Given the description of an element on the screen output the (x, y) to click on. 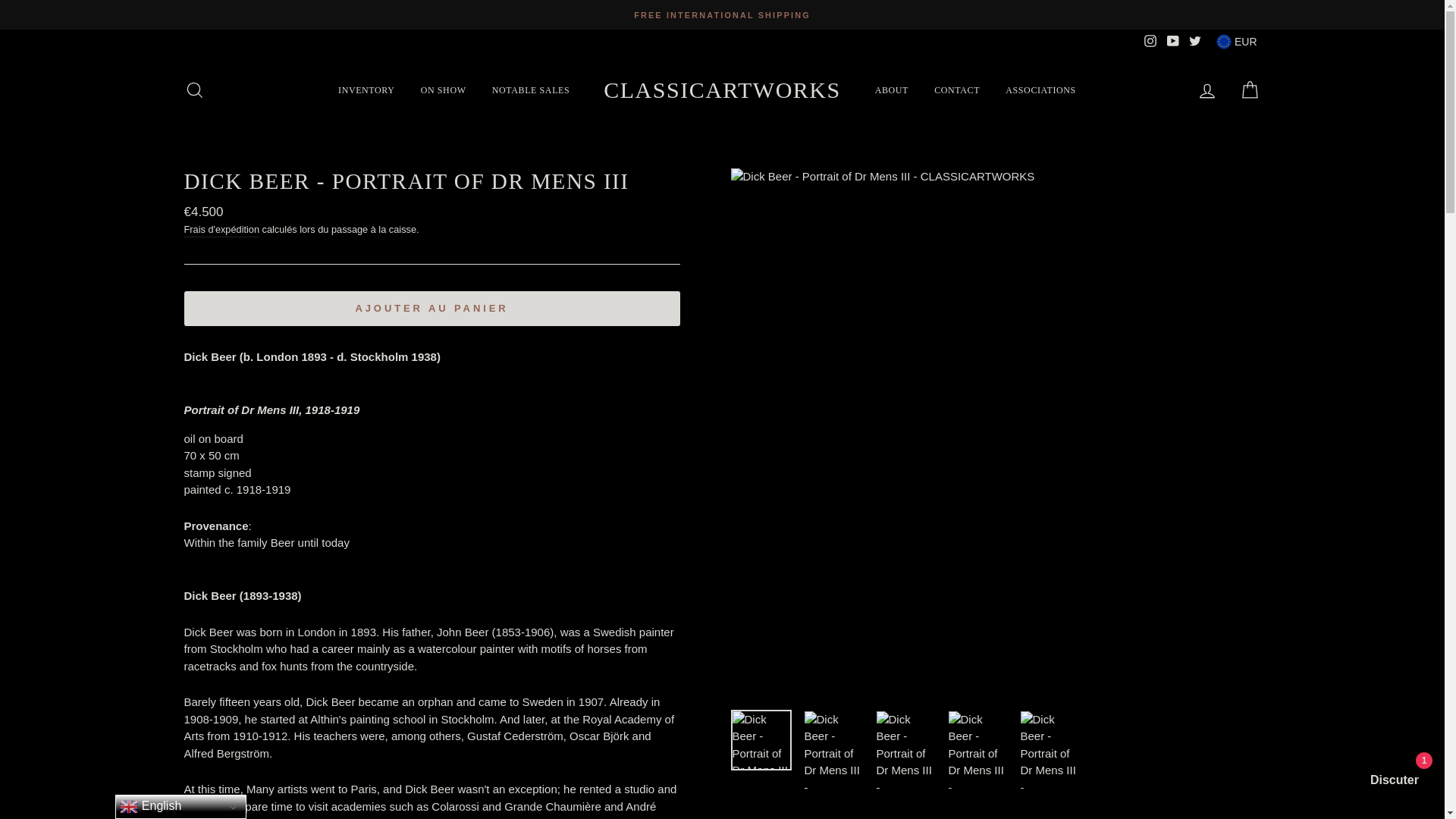
AJOUTER AU PANIER (431, 308)
FREE INTERNATIONAL SHIPPING (722, 14)
NOTABLE SALES (530, 89)
Twitter (1195, 41)
Instagram (1150, 41)
INVENTORY (366, 89)
CLASSICARTWORKS sur Instagram (1150, 41)
ABOUT (891, 89)
CLASSICARTWORKS sur YouTube (1172, 41)
CLASSICARTWORKS sur Twitter (1195, 41)
CONTACT (957, 89)
EUR (1235, 41)
RECHERCHER (194, 89)
ON SHOW (443, 89)
PANIER (1249, 89)
